Given the description of an element on the screen output the (x, y) to click on. 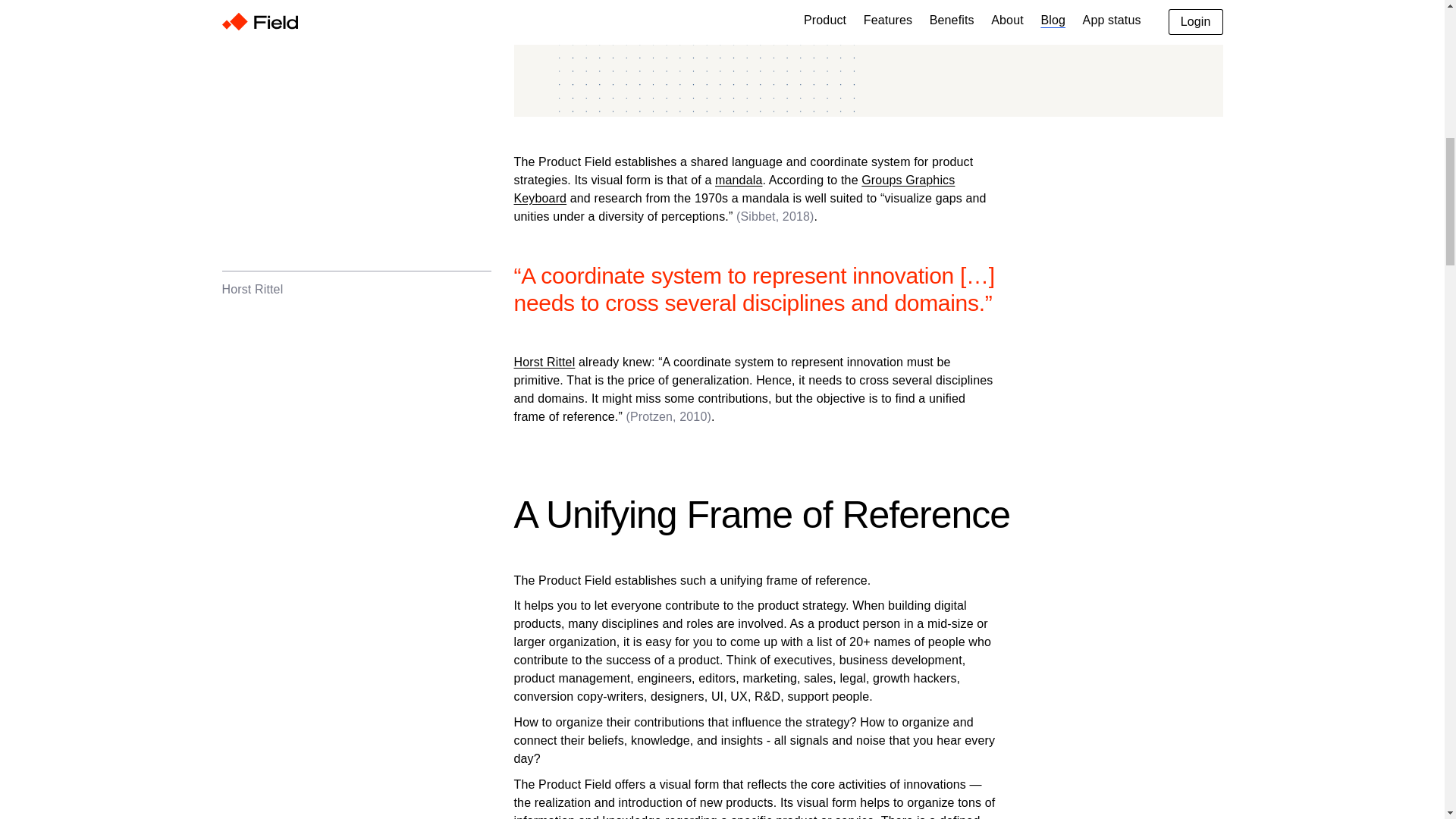
mandala (737, 179)
Groups Graphics Keyboard (734, 188)
Horst Rittel (544, 361)
